Given the description of an element on the screen output the (x, y) to click on. 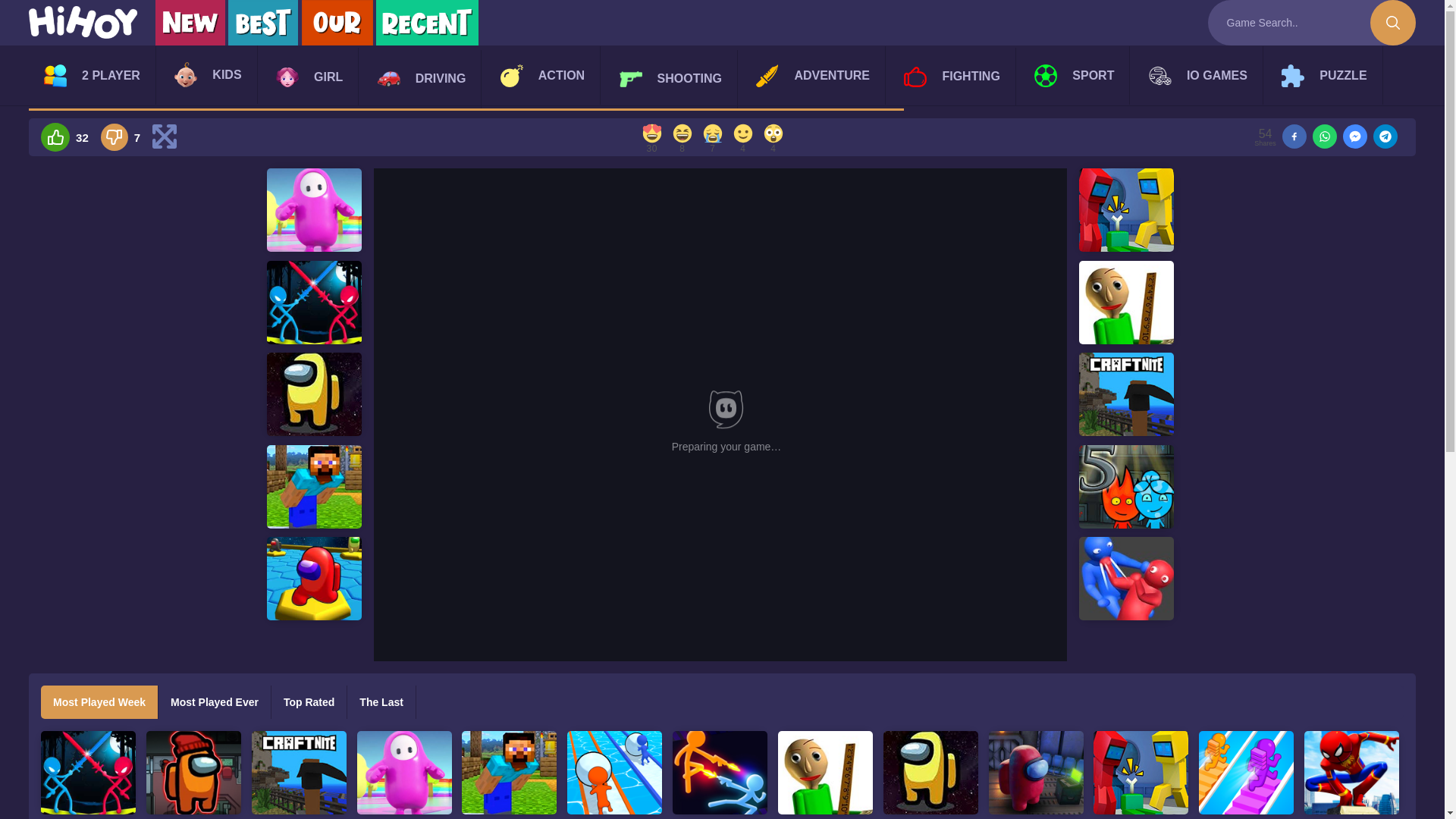
SHOOTING (670, 78)
2 PLAYER (92, 74)
IO GAMES (1198, 74)
KIDS (207, 74)
DRIVING (421, 78)
ACTION (541, 74)
PUZZLE (1323, 74)
FIGHTING (951, 76)
GIRL (309, 76)
ADVENTURE (813, 74)
